Given the description of an element on the screen output the (x, y) to click on. 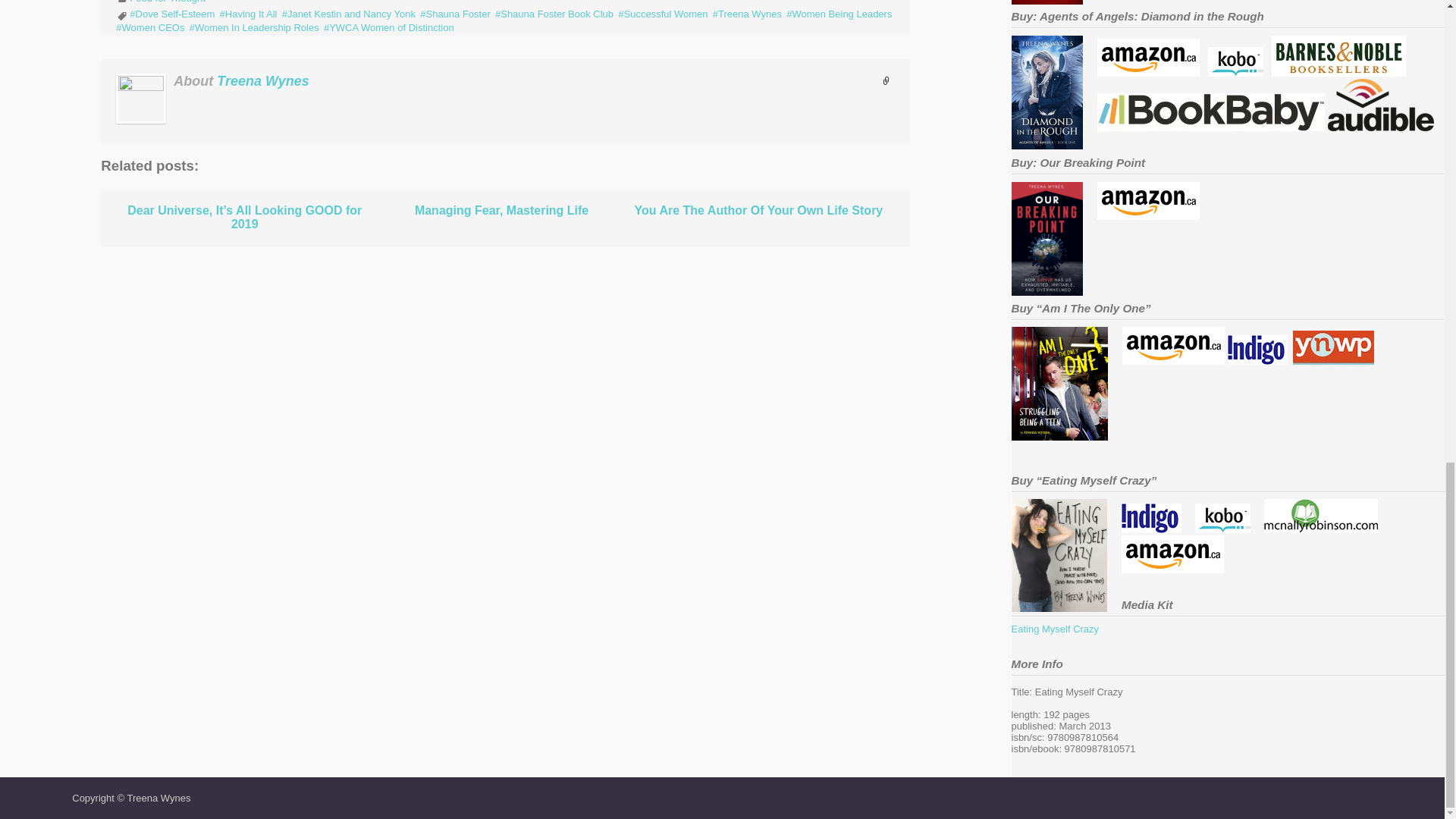
Having It All (248, 13)
Treena Wynes (747, 13)
Shauna Foster Book Club (553, 13)
Women In Leadership Roles (253, 27)
Am I the Only One (1255, 360)
You Are The Author Of Your Own Life Story (758, 210)
Shauna Foster (455, 13)
Dove Self-Esteem (171, 13)
Eating Myself Crazy (1150, 529)
Eating Myself Crazy (1320, 529)
Women CEOs (150, 27)
Eating Myself Crazy (1222, 529)
Treena Wynes (262, 80)
Managing Fear, Mastering Life (501, 210)
YWCA Women of Distinction (388, 27)
